Given the description of an element on the screen output the (x, y) to click on. 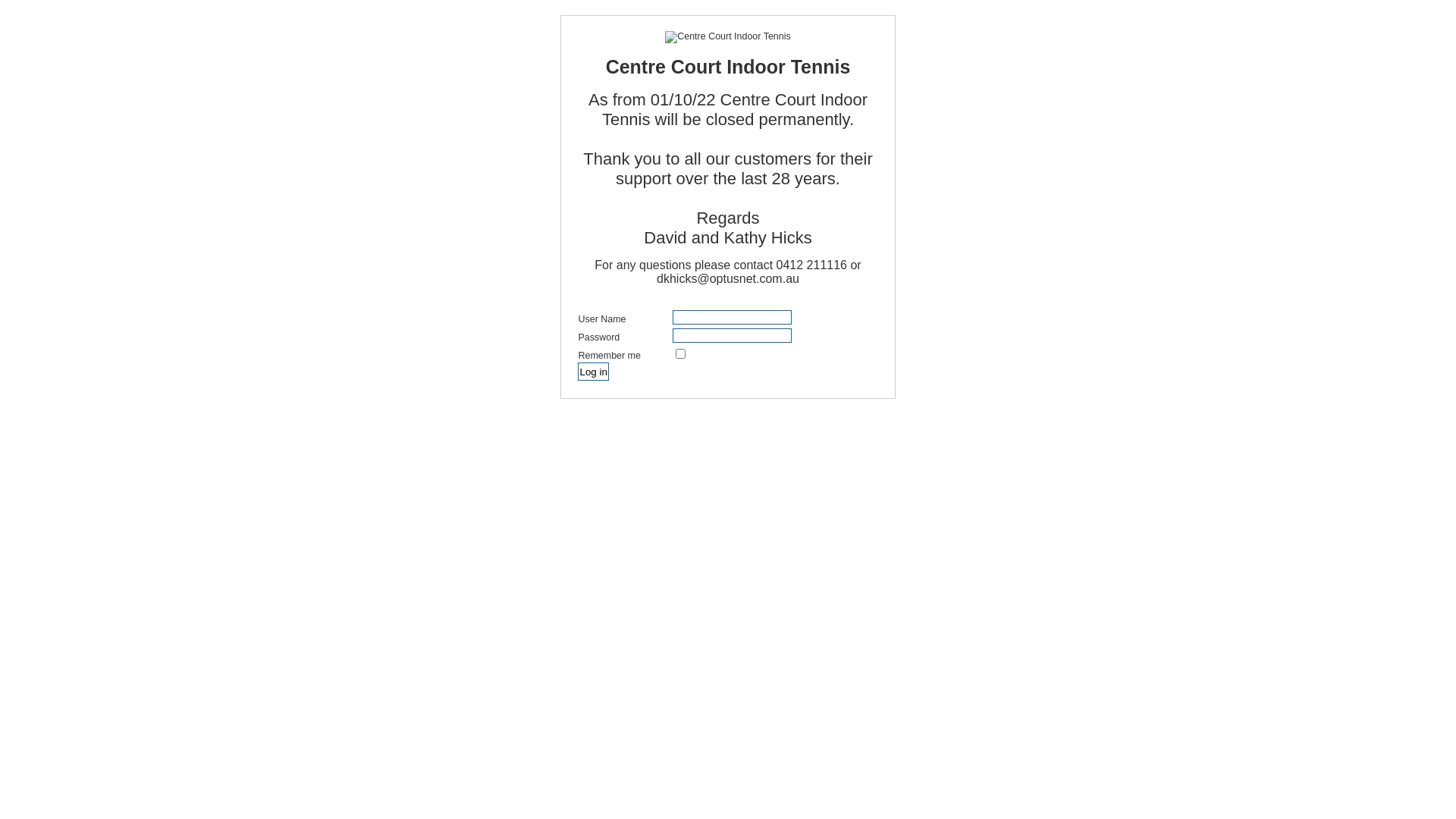
Log in Element type: text (592, 371)
